Given the description of an element on the screen output the (x, y) to click on. 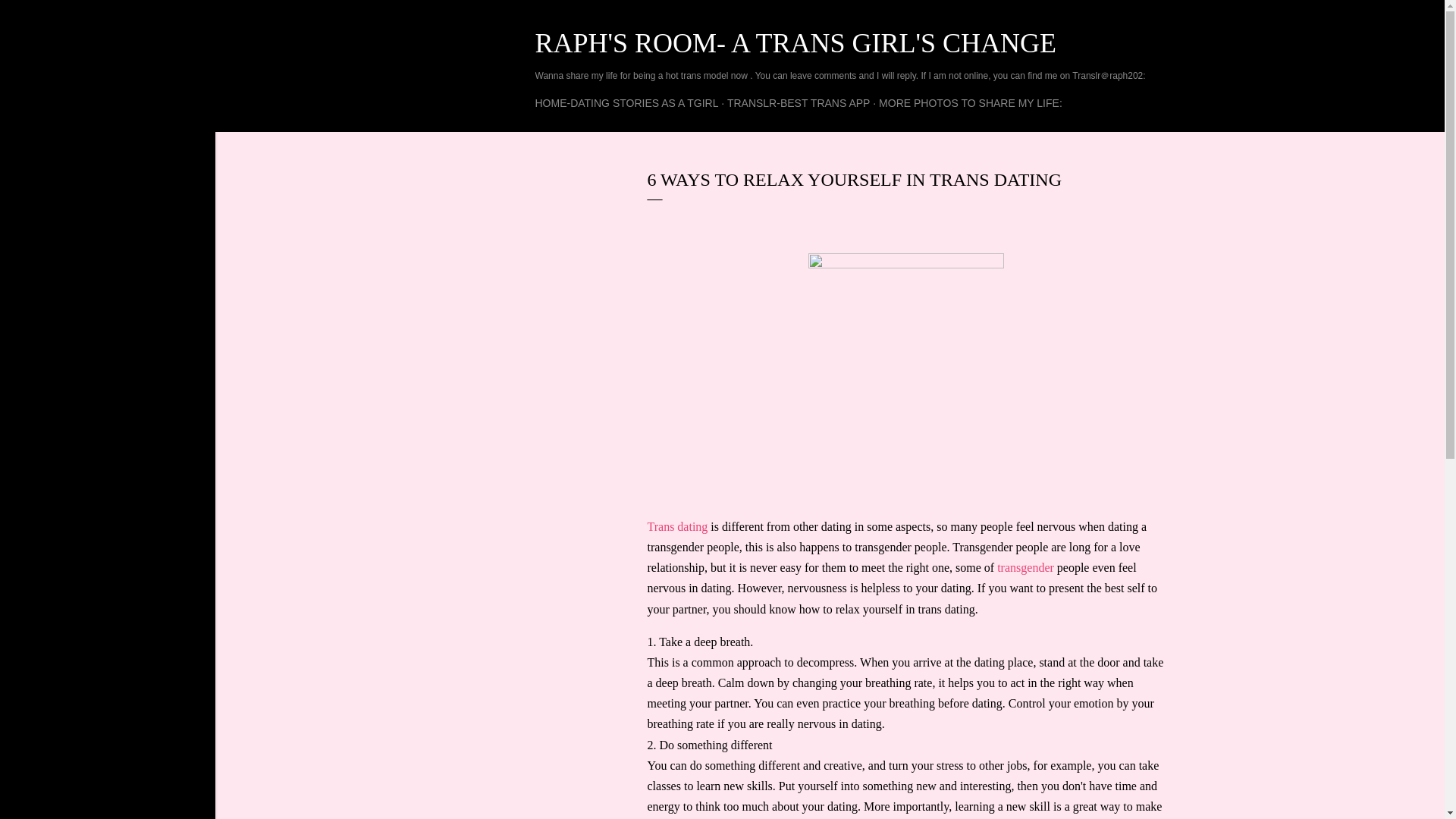
Trans dating (677, 526)
TRANSLR-BEST TRANS APP (798, 102)
transgender (1025, 567)
HOME-DATING STORIES AS A TGIRL (627, 102)
MORE PHOTOS TO SHARE MY LIFE: (970, 102)
RAPH'S ROOM- A TRANS GIRL'S CHANGE (796, 42)
